Given the description of an element on the screen output the (x, y) to click on. 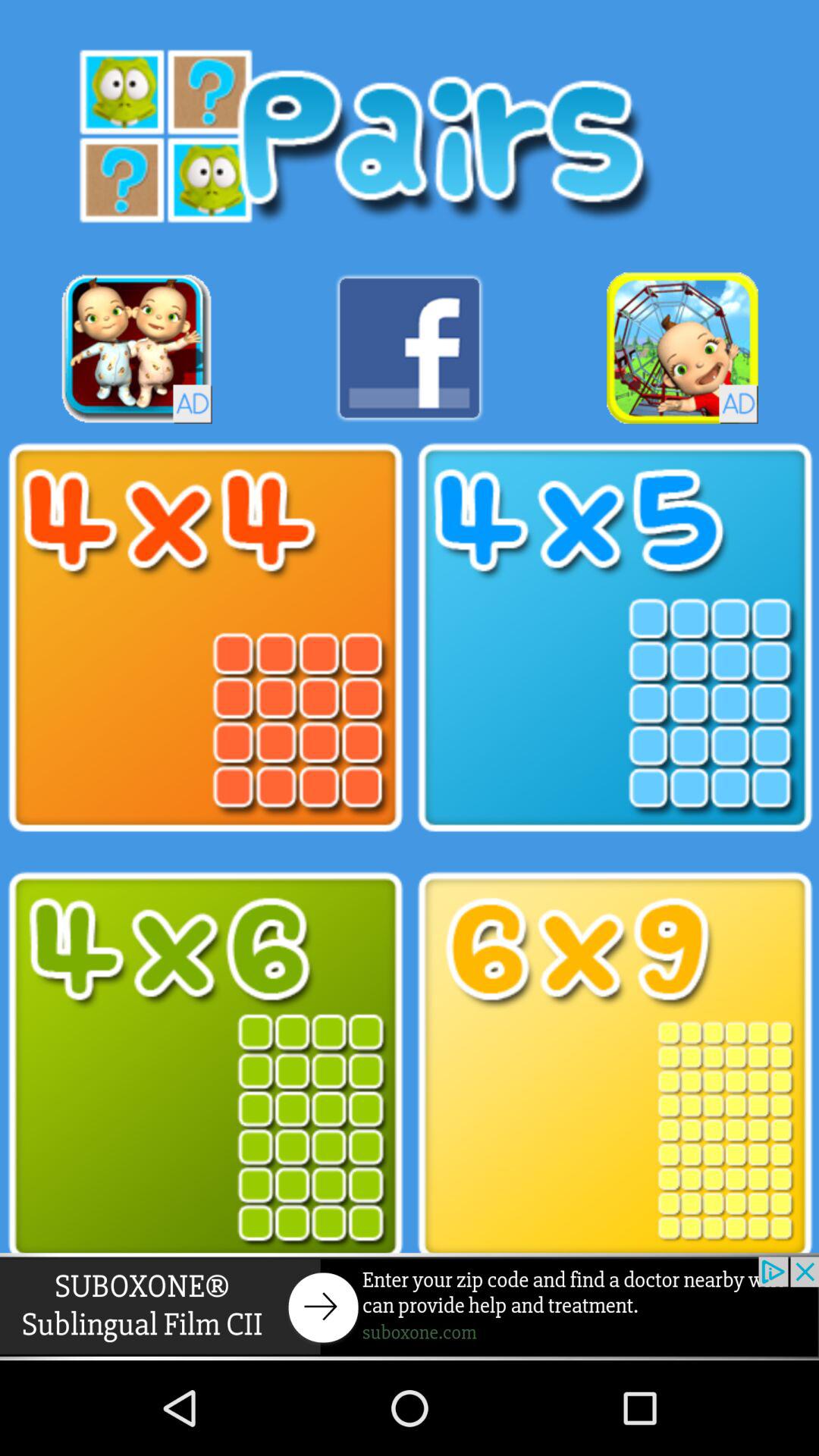
select 4 into 5 (614, 637)
